Given the description of an element on the screen output the (x, y) to click on. 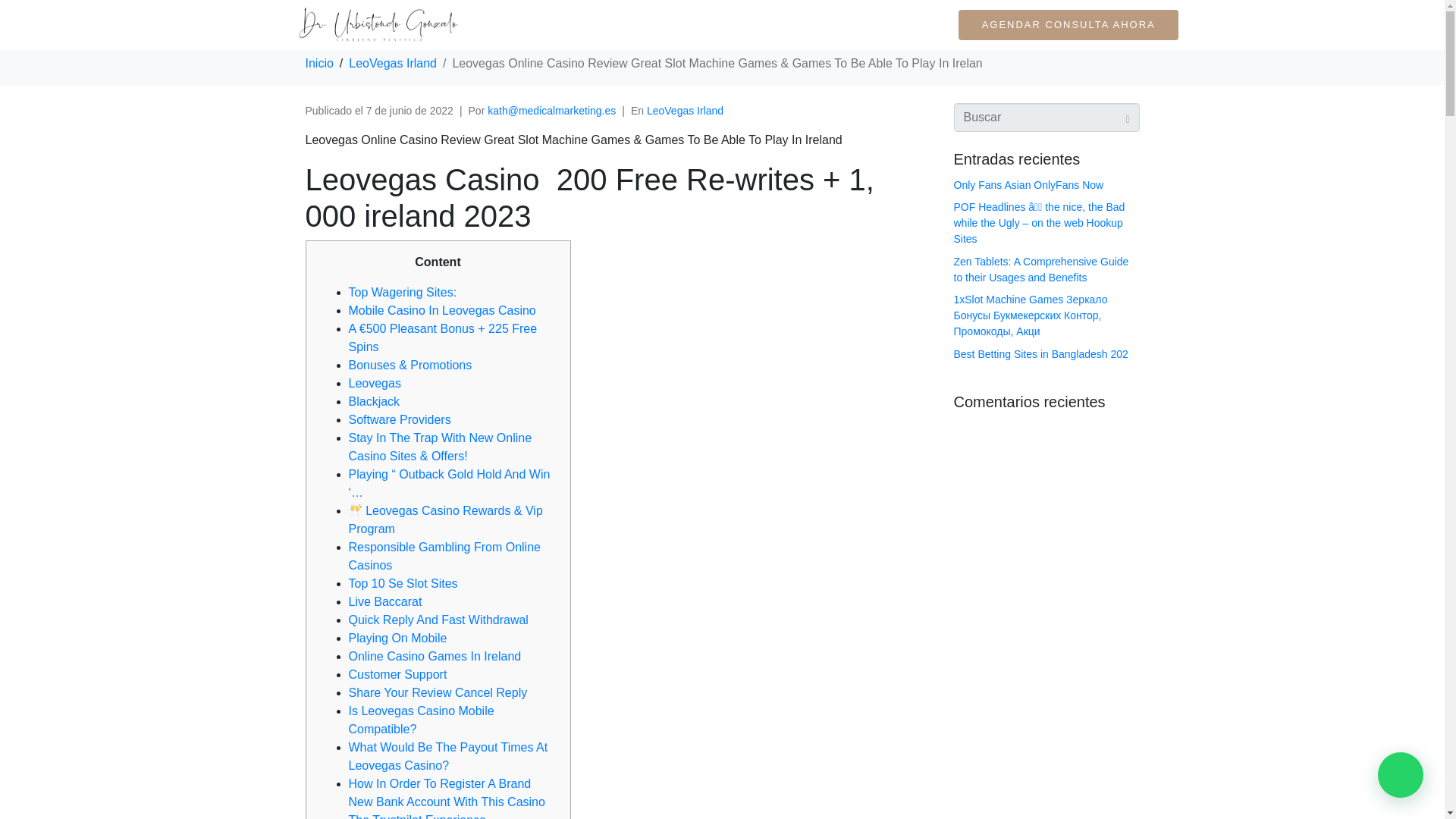
Software Providers (400, 419)
Inicio (318, 62)
The Trustpilot Experience (417, 816)
Leovegas (375, 382)
Quick Reply And Fast Withdrawal (438, 619)
Online Casino Games In Ireland (435, 656)
Is Leovegas Casino Mobile Compatible? (422, 719)
Blackjack (374, 400)
Top Wagering Sites: (403, 291)
